Given the description of an element on the screen output the (x, y) to click on. 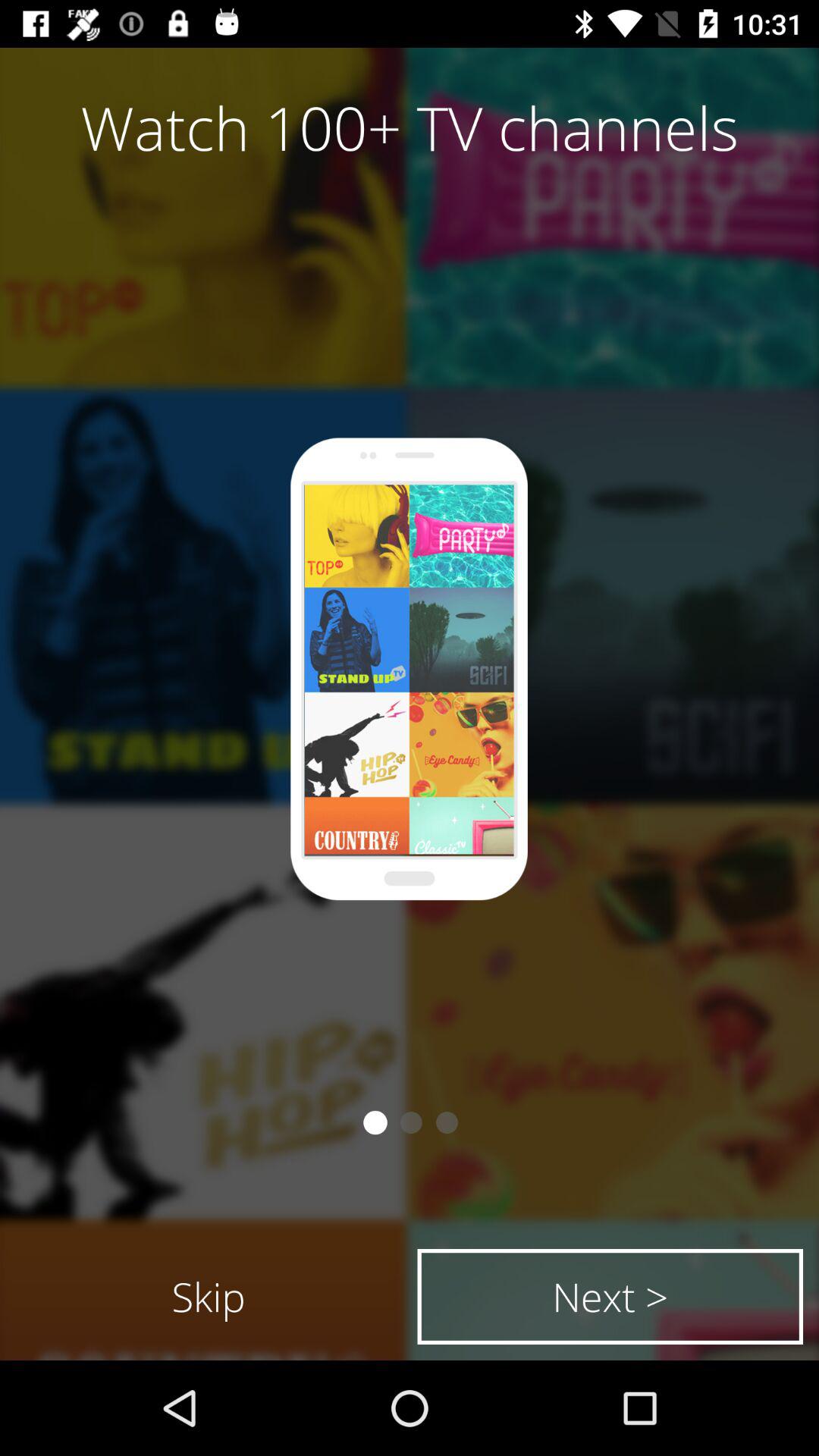
turn on the skip at the bottom left corner (208, 1296)
